Given the description of an element on the screen output the (x, y) to click on. 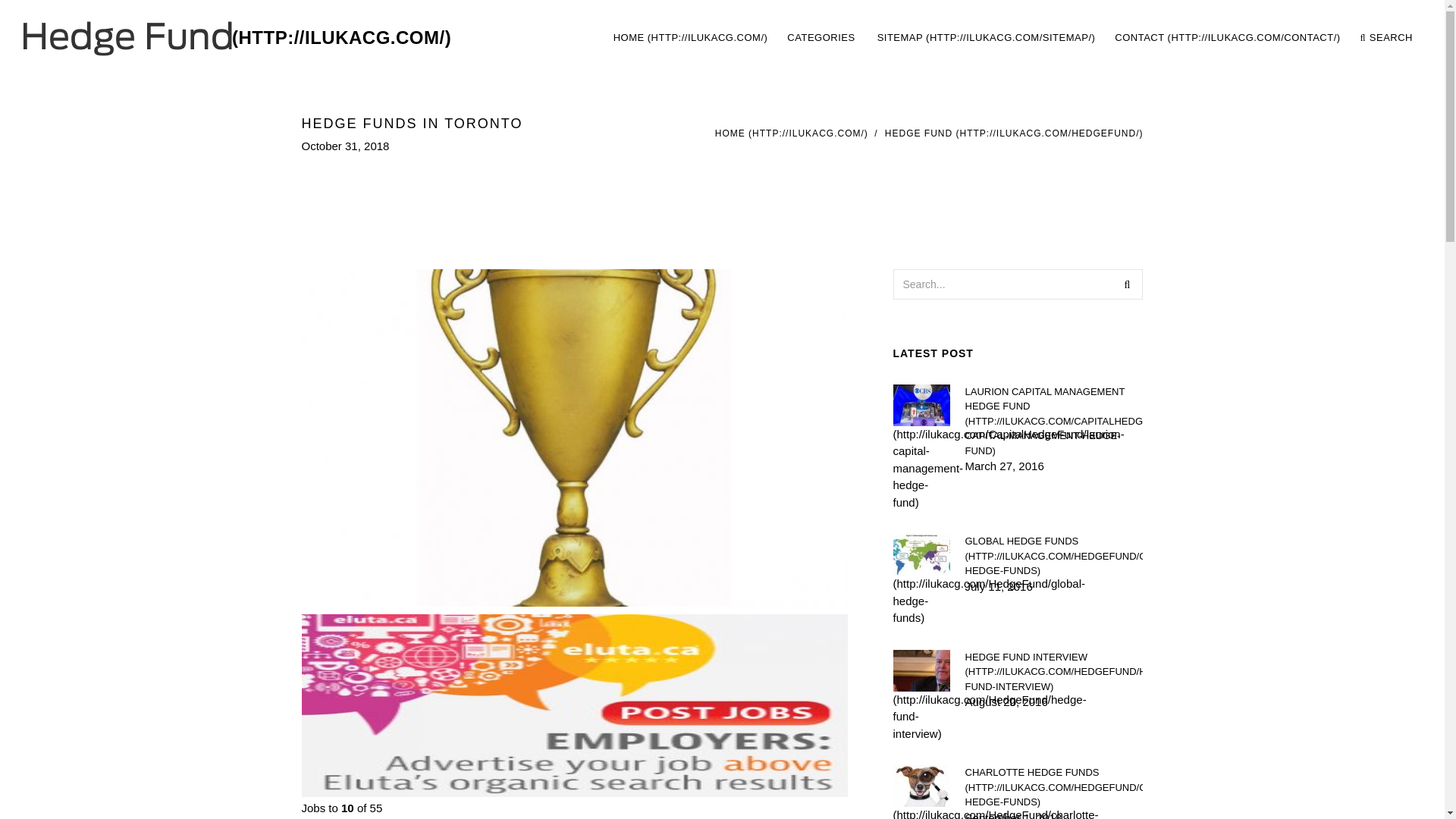
CATEGORIES (821, 38)
HOME (690, 38)
SITEMAP (986, 38)
Hedge Fund (237, 38)
CHARLOTTE HEDGE FUNDS (1052, 786)
GLOBAL HEDGE FUNDS (1012, 38)
HEDGE FUND (1052, 555)
LAURION CAPITAL MANAGEMENT HEDGE FUND (1013, 132)
HEDGE FUND INTERVIEW (1052, 420)
Search (1052, 671)
CONTACT (1126, 283)
HOME (1227, 38)
SEARCH (790, 132)
